Given the description of an element on the screen output the (x, y) to click on. 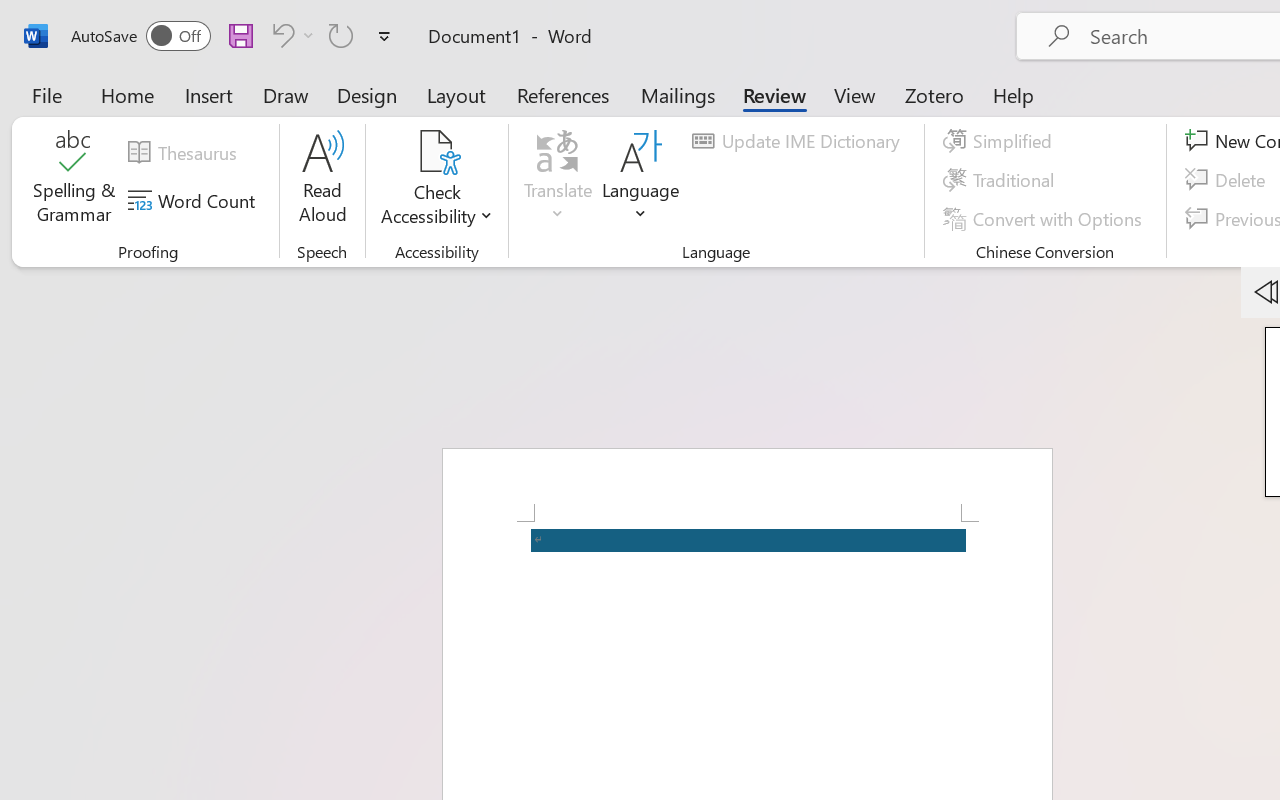
Convert with Options... (1045, 218)
Simplified (1000, 141)
Repeat Accessibility Checker (341, 35)
Traditional (1001, 179)
Undo Apply Quick Style Set (290, 35)
Check Accessibility (436, 151)
Delete (1227, 179)
Check Accessibility (436, 179)
